Given the description of an element on the screen output the (x, y) to click on. 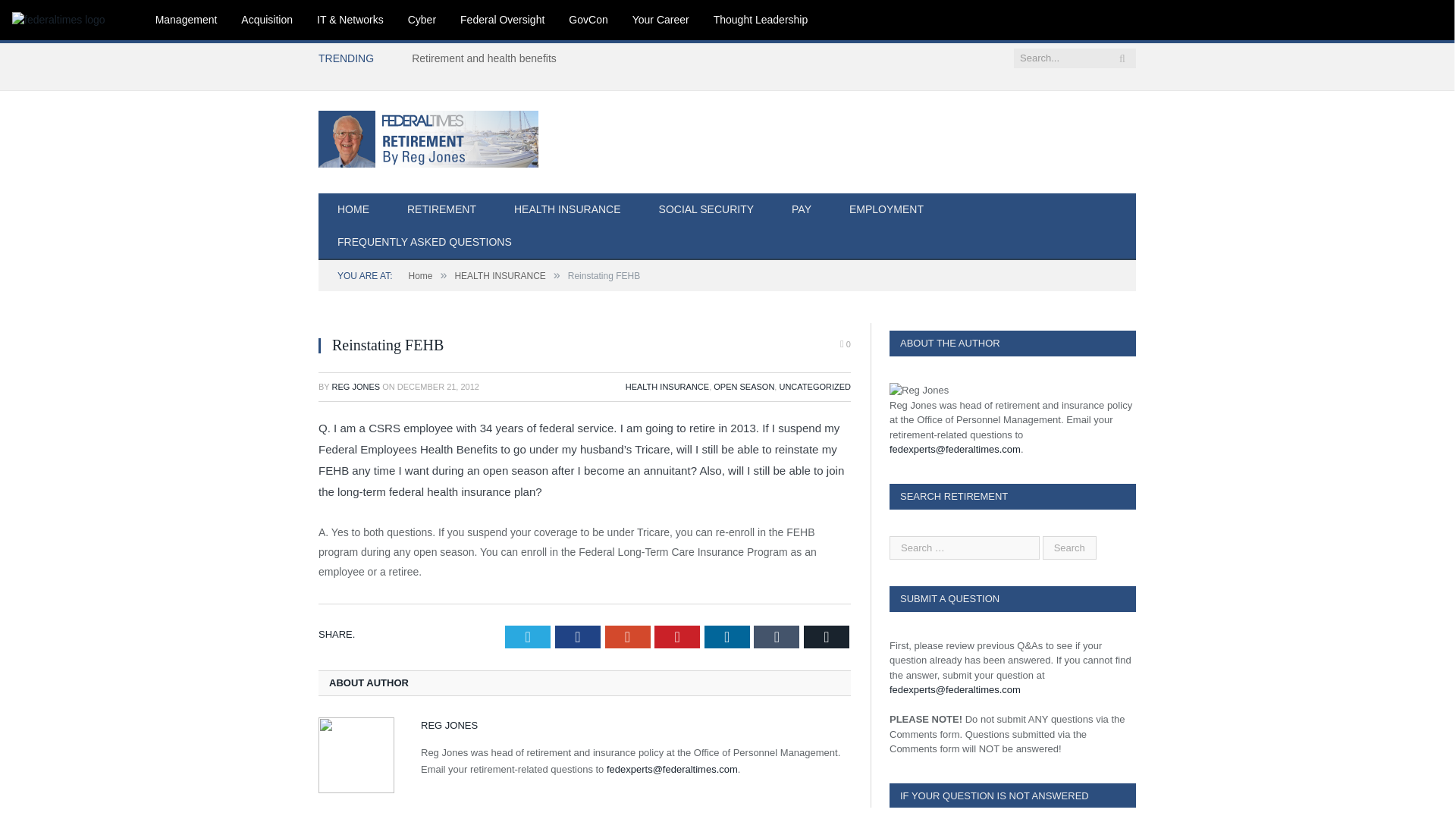
RETIREMENT (441, 210)
Cyber (422, 19)
Federal Oversight (502, 19)
Search (1069, 546)
Pinterest (676, 636)
REG JONES (355, 386)
Retirement and health benefits (488, 58)
Search (1069, 546)
PAY (801, 210)
2012-12-21 (438, 386)
